Given the description of an element on the screen output the (x, y) to click on. 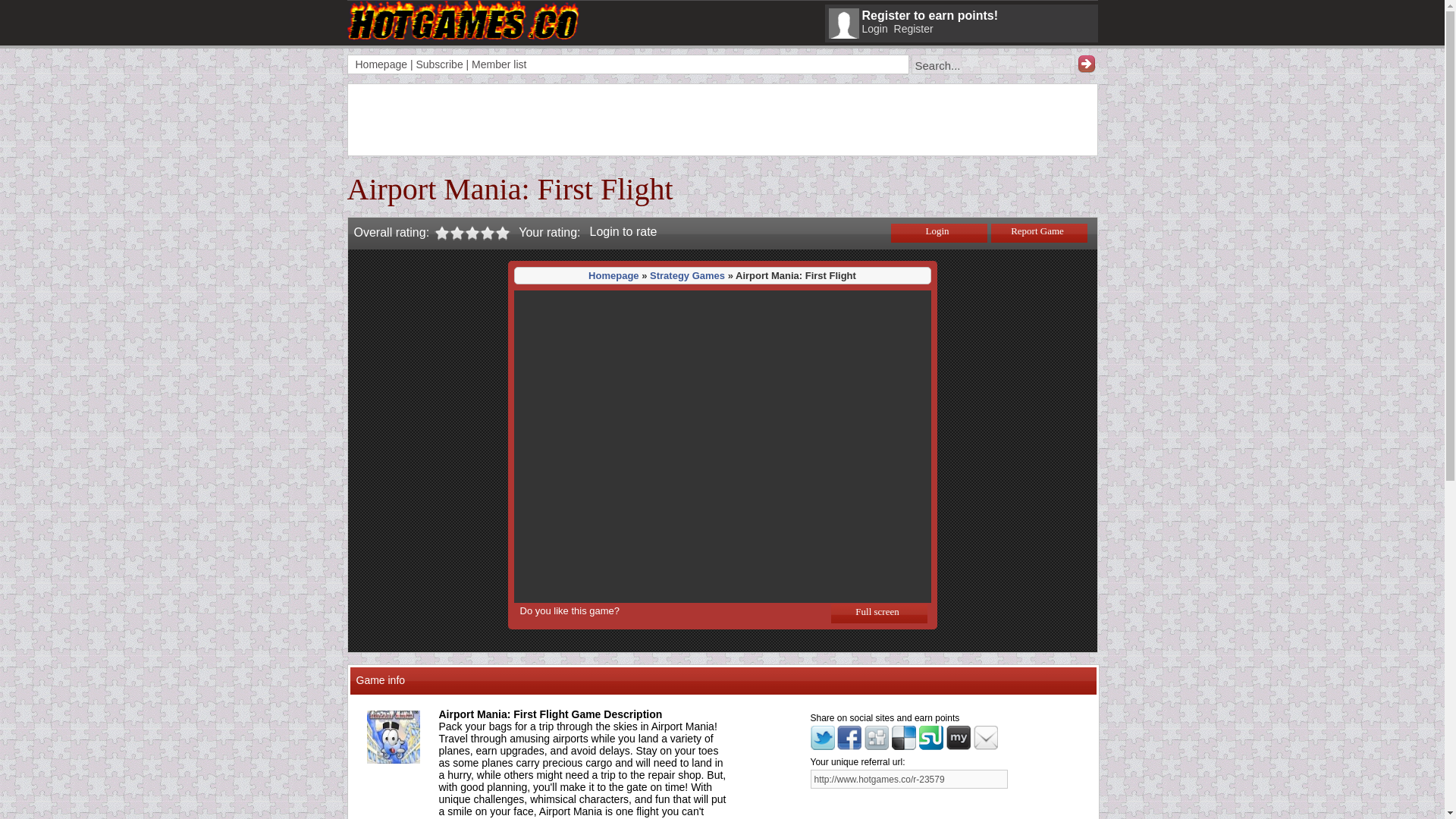
Email (985, 737)
Login (938, 232)
Delicious (903, 746)
Delicious (903, 737)
Myspace (958, 737)
Facebook (849, 746)
Homepage (613, 275)
Digg (876, 737)
Login (873, 28)
Facebook (849, 737)
Stumbleupon (930, 737)
Twitter (821, 737)
Advertisement (623, 118)
Myspace (958, 746)
Search... (993, 64)
